Given the description of an element on the screen output the (x, y) to click on. 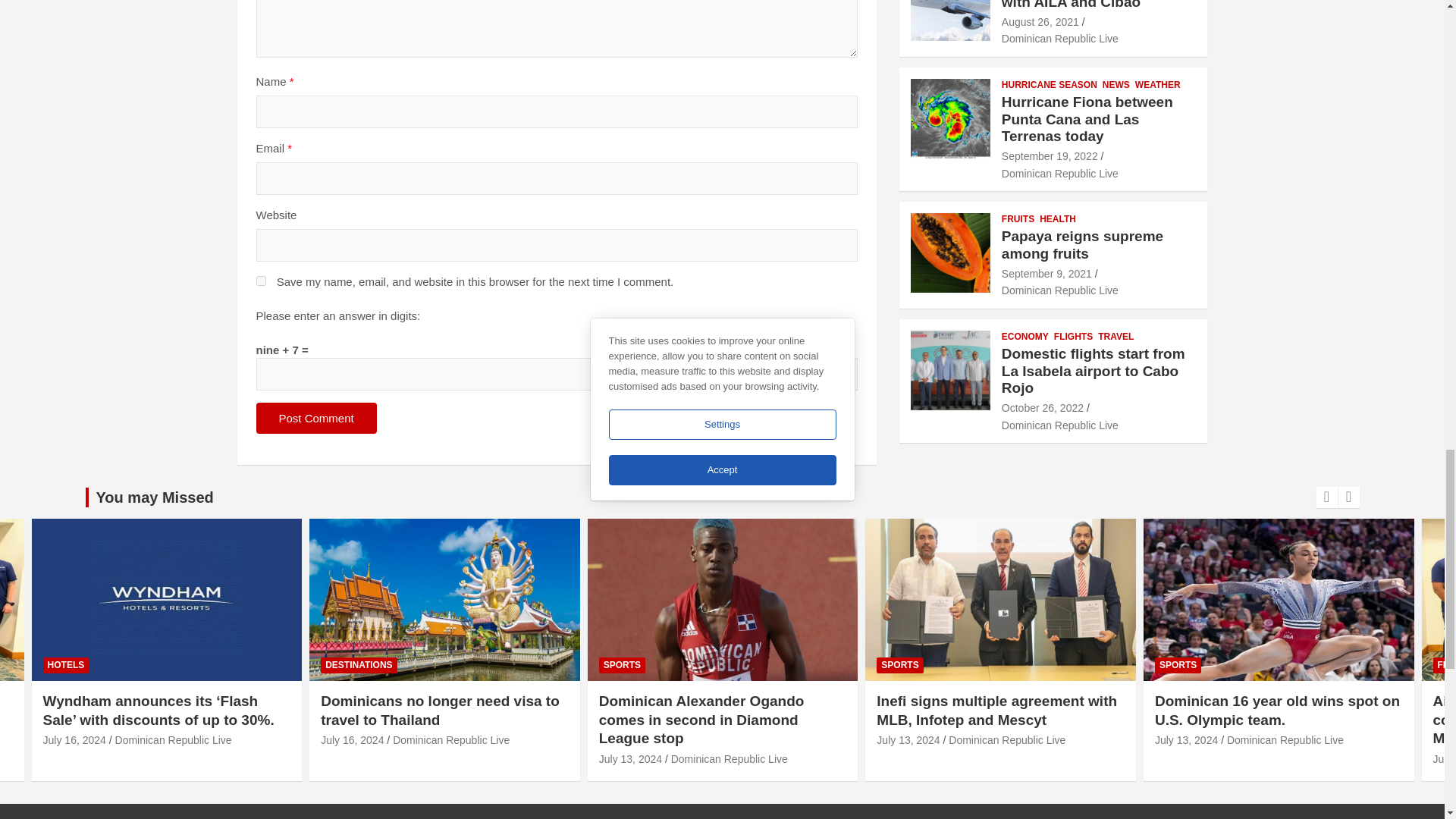
Hurricane Fiona between Punta Cana and Las Terrenas today (1049, 155)
Domestic flights start from La Isabela airport to Cabo Rojo (1042, 408)
Sky Cana to link New York with AILA and Cibao (1039, 21)
Papaya reigns supreme among fruits (1046, 273)
Dominicans no longer need visa to travel to Thailand (352, 739)
yes (261, 280)
Post Comment (316, 418)
Post Comment (316, 418)
